Given the description of an element on the screen output the (x, y) to click on. 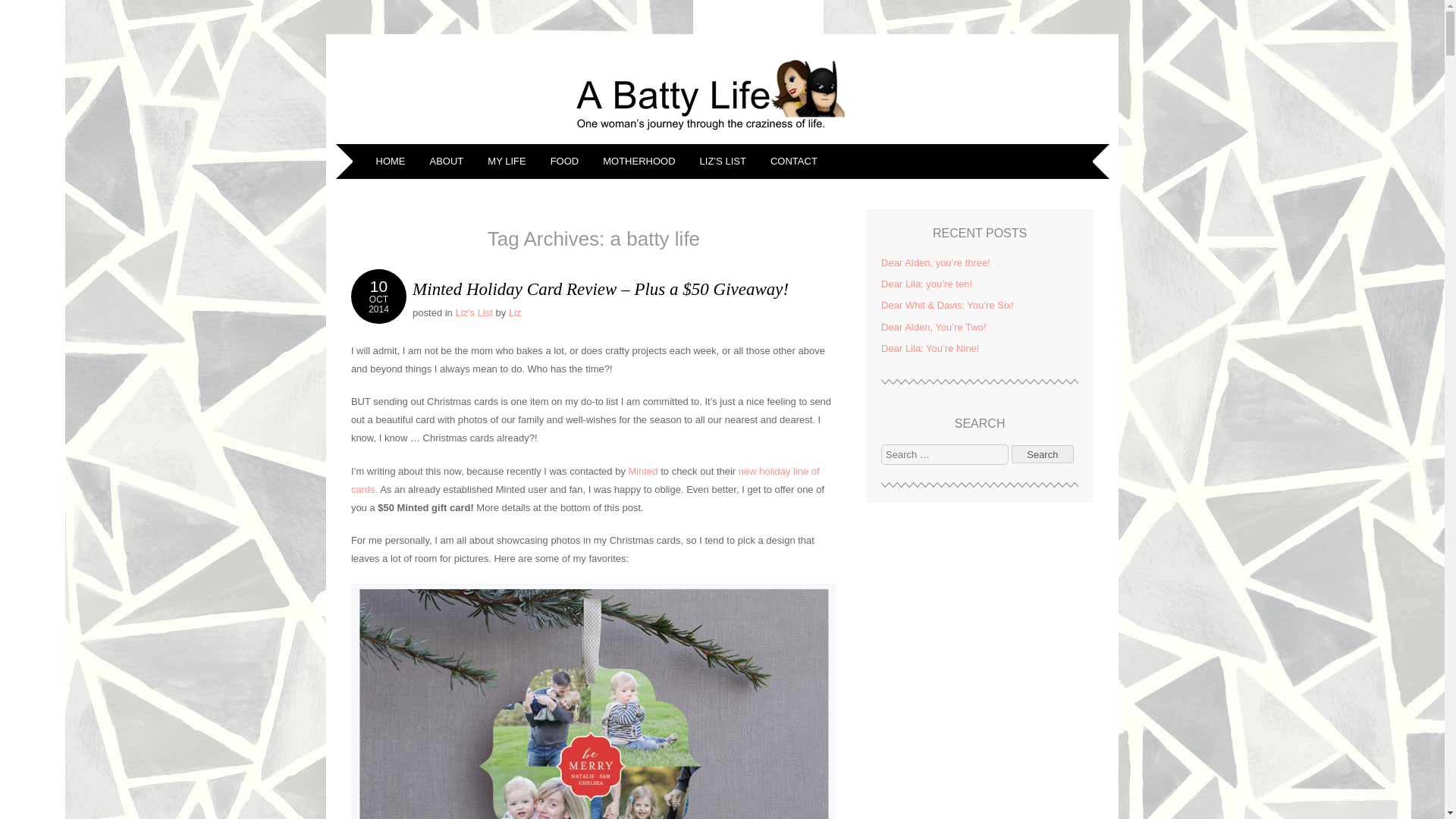
ABOUT (449, 161)
Search (1042, 454)
A Batty Life (451, 61)
A Batty Life (721, 133)
Minted (643, 471)
11:29 am (377, 295)
new holiday line of cards. (584, 480)
Liz's List (473, 312)
FOOD (567, 161)
HOME (392, 161)
Liz (514, 312)
View all posts by Liz (514, 312)
CONTACT (795, 161)
MY LIFE (377, 295)
